Given the description of an element on the screen output the (x, y) to click on. 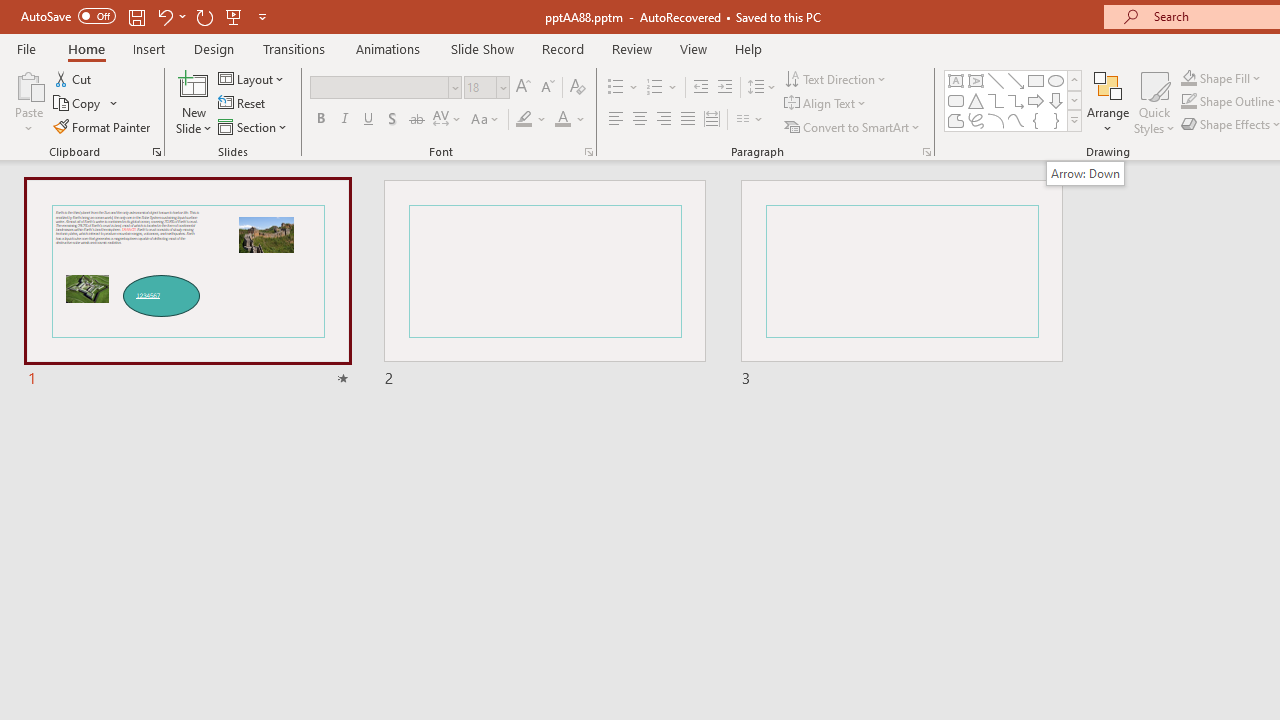
Left Brace (1035, 120)
Rectangle (1035, 80)
Shape Fill Aqua, Accent 2 (1188, 78)
Shapes (1074, 120)
Vertical Text Box (975, 80)
Line (995, 80)
Shadow (392, 119)
Bold (320, 119)
